Given the description of an element on the screen output the (x, y) to click on. 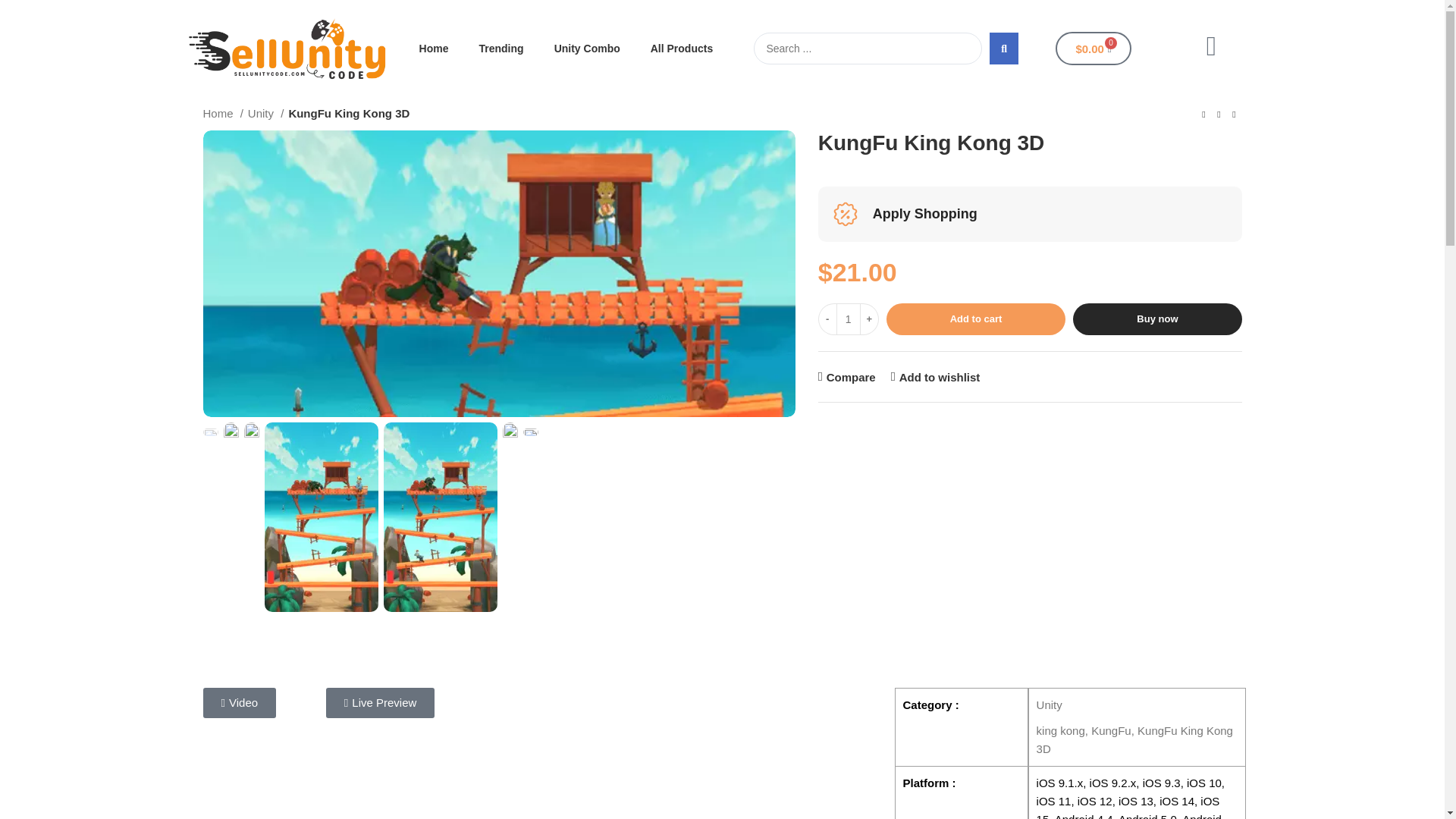
promotions.svg (844, 213)
Unity Combo (586, 48)
Trending (501, 48)
Home (434, 48)
All Products (681, 48)
